Given the description of an element on the screen output the (x, y) to click on. 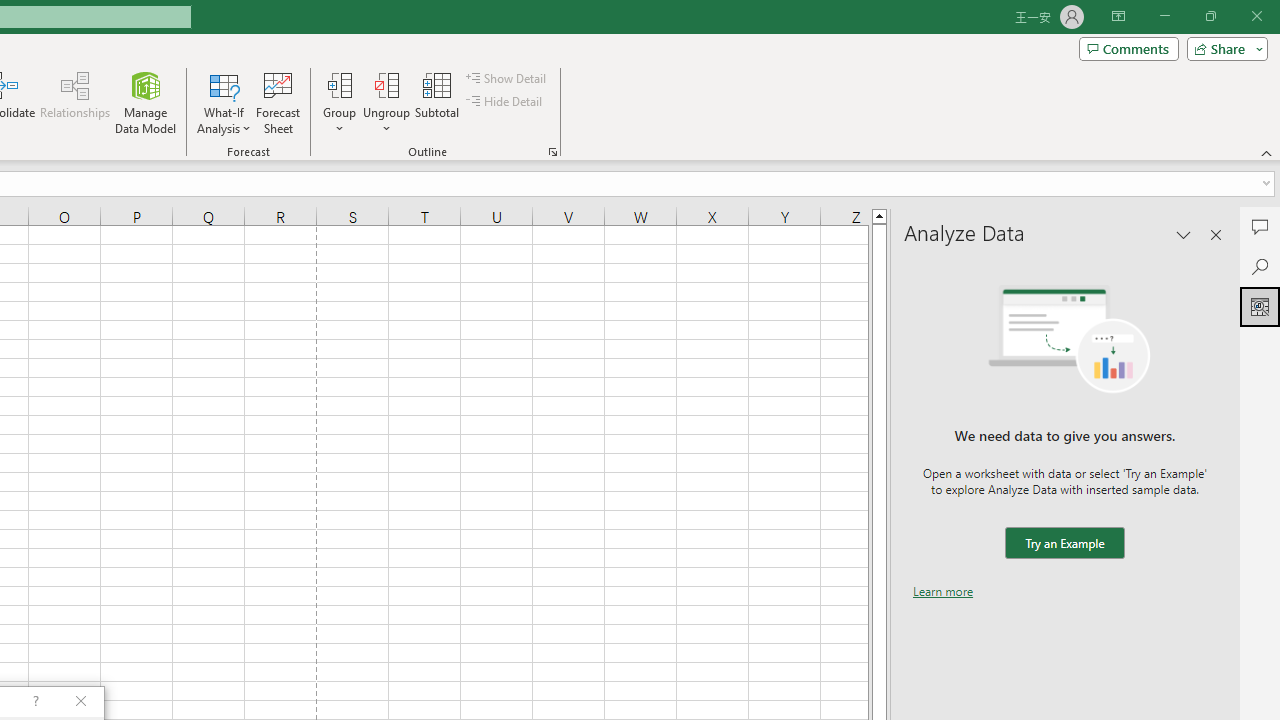
Hide Detail (505, 101)
Show Detail (507, 78)
Search (1260, 266)
Group and Outline Settings (552, 151)
Line up (879, 215)
Close pane (1215, 234)
Collapse the Ribbon (1267, 152)
Task Pane Options (1183, 234)
Ungroup... (386, 102)
Forecast Sheet (278, 102)
We need data to give you answers. Try an Example (1064, 543)
Ungroup... (386, 84)
